Given the description of an element on the screen output the (x, y) to click on. 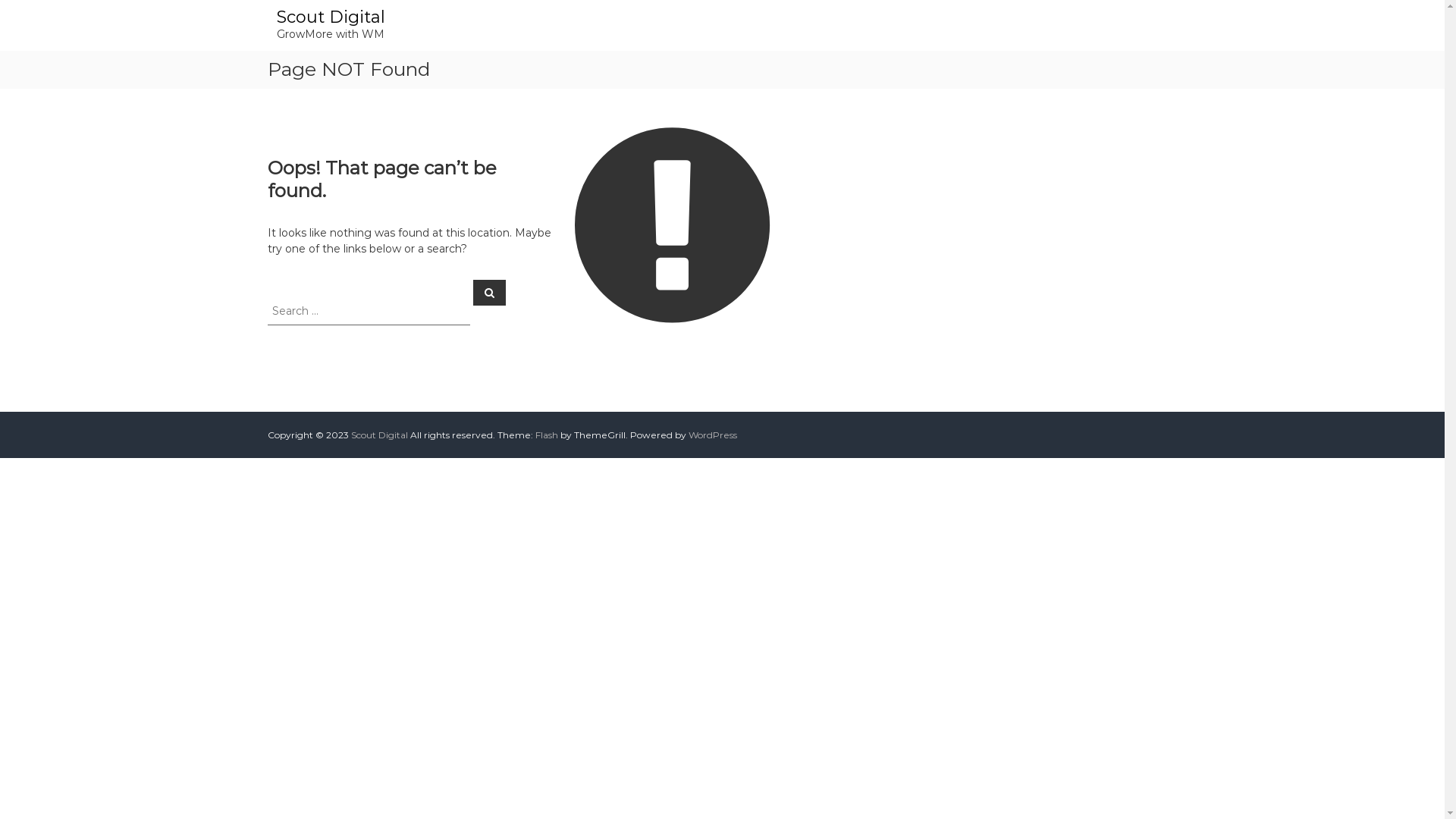
Scout Digital Element type: text (330, 16)
Flash Element type: text (546, 434)
Search Element type: text (489, 291)
Scout Digital Element type: text (378, 434)
WordPress Element type: text (712, 434)
